Given the description of an element on the screen output the (x, y) to click on. 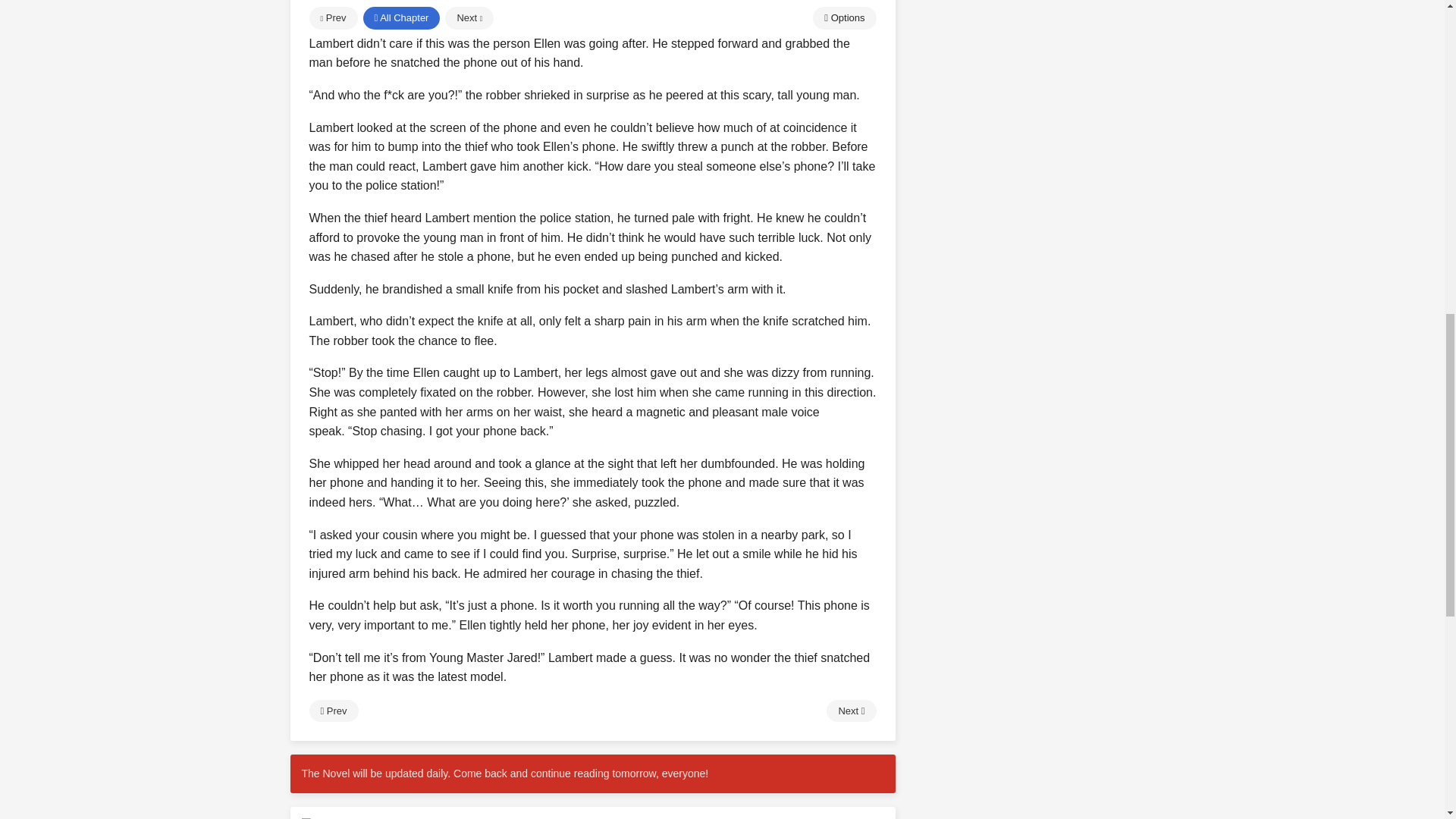
Prev (333, 711)
Next (851, 711)
